Given the description of an element on the screen output the (x, y) to click on. 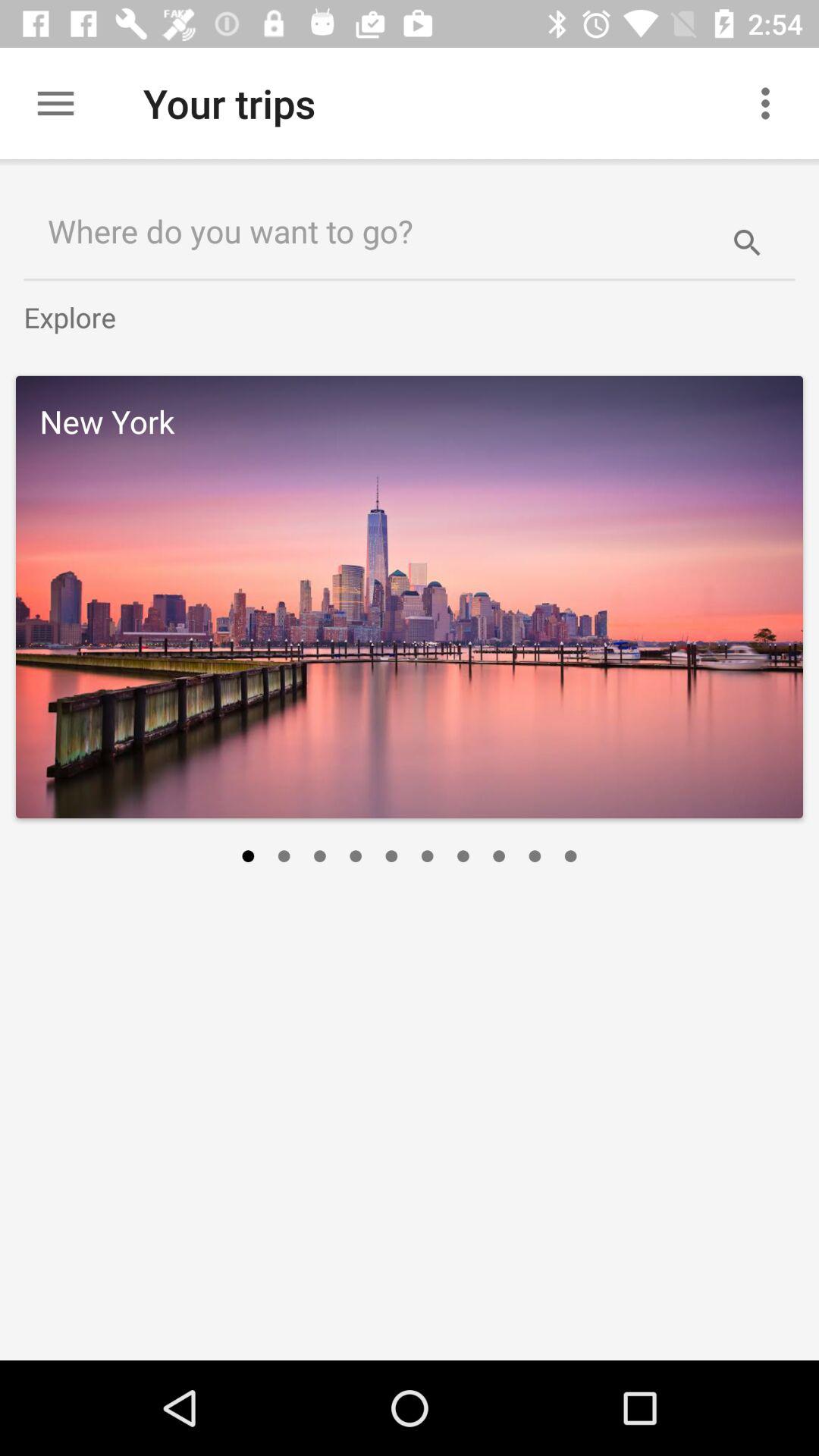
open item to the right of your trips (771, 103)
